Given the description of an element on the screen output the (x, y) to click on. 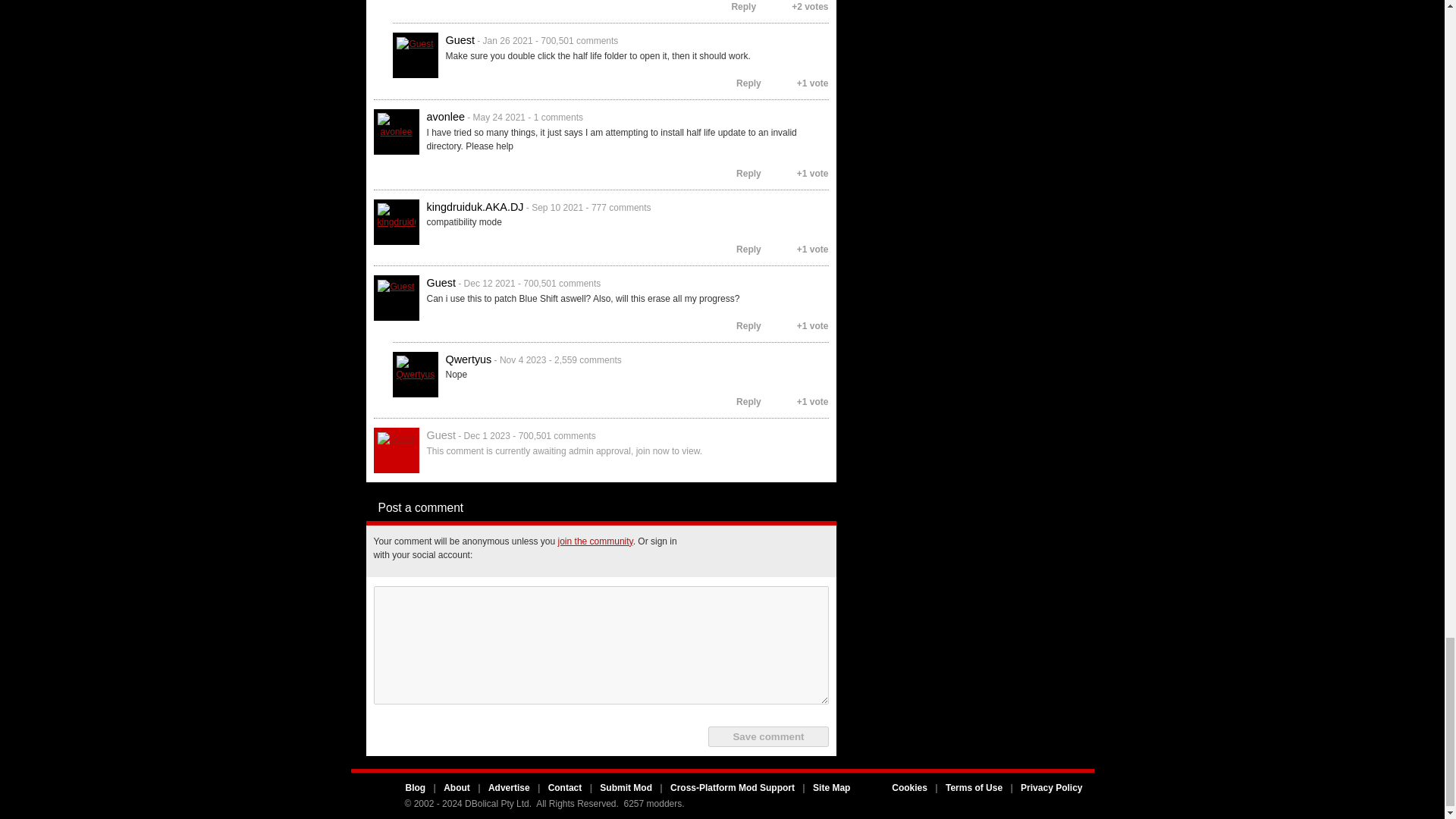
Save comment (767, 736)
